Given the description of an element on the screen output the (x, y) to click on. 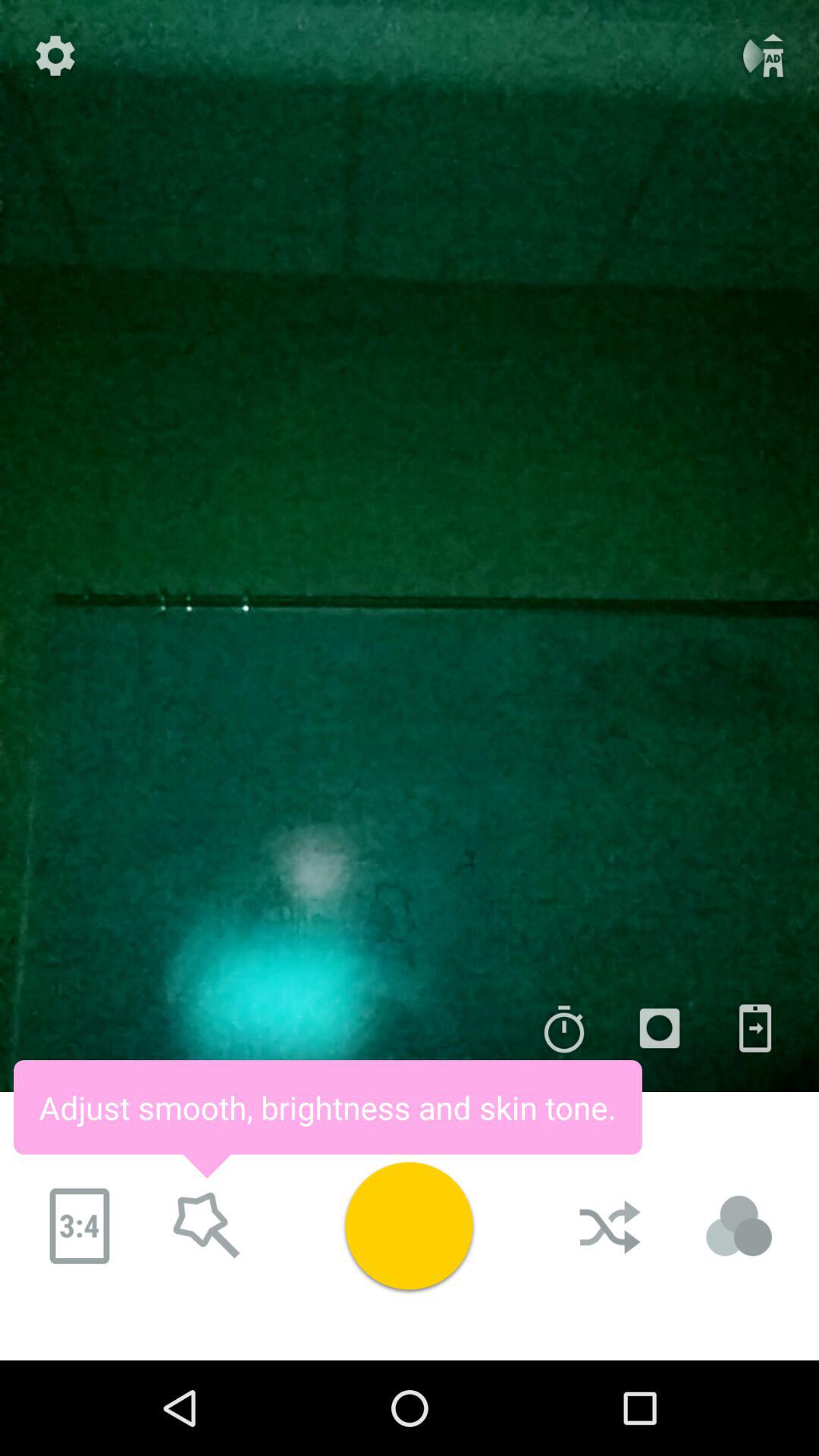
ford ward (206, 1226)
